Given the description of an element on the screen output the (x, y) to click on. 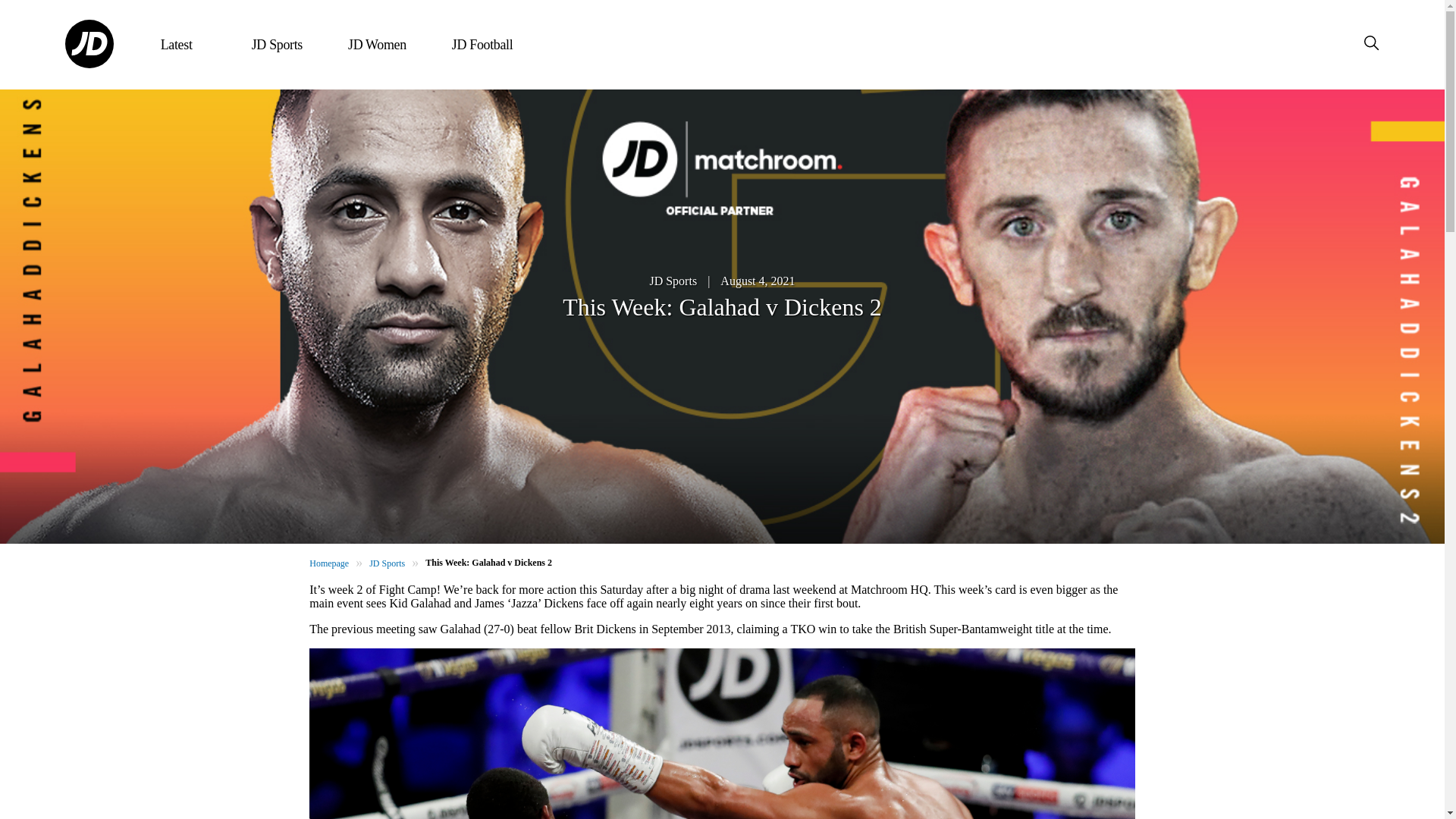
Homepage (328, 562)
This Week: Galahad v Dickens 2 (488, 562)
JD Sports (386, 562)
JD Football (482, 44)
JD Women (376, 44)
Homepage (328, 562)
JD Sports (673, 280)
